Given the description of an element on the screen output the (x, y) to click on. 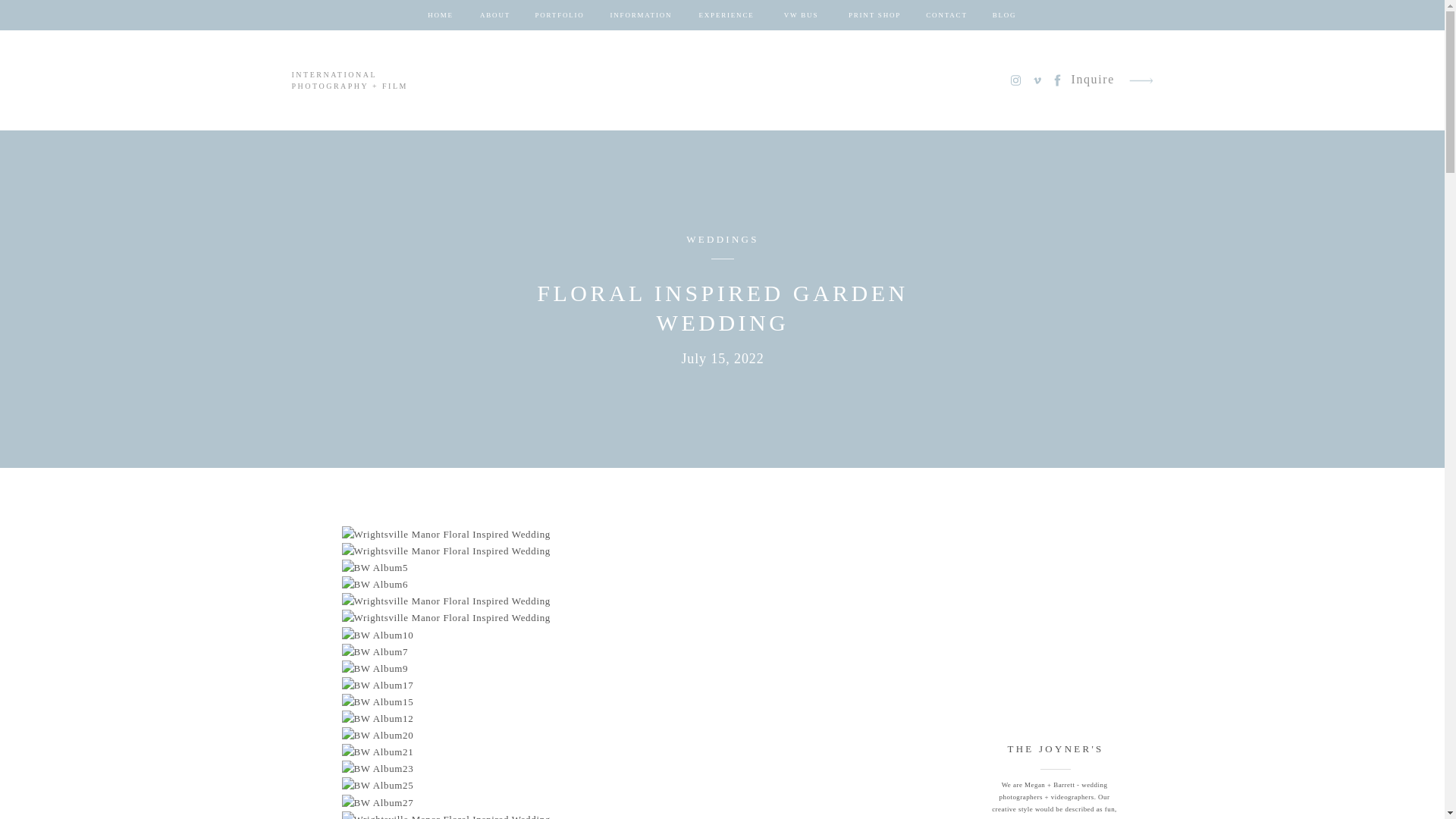
PRINT SHOP (874, 15)
CONTACT (946, 15)
HOME (440, 15)
PORTFOLIO (560, 15)
INFORMATION (640, 15)
BLOG (1003, 15)
arrow (1140, 80)
Inquire  (1092, 80)
EXPERIENCE (726, 15)
ABOUT (494, 15)
arrow (1140, 80)
WEDDINGS (721, 238)
VW BUS (800, 15)
